Given the description of an element on the screen output the (x, y) to click on. 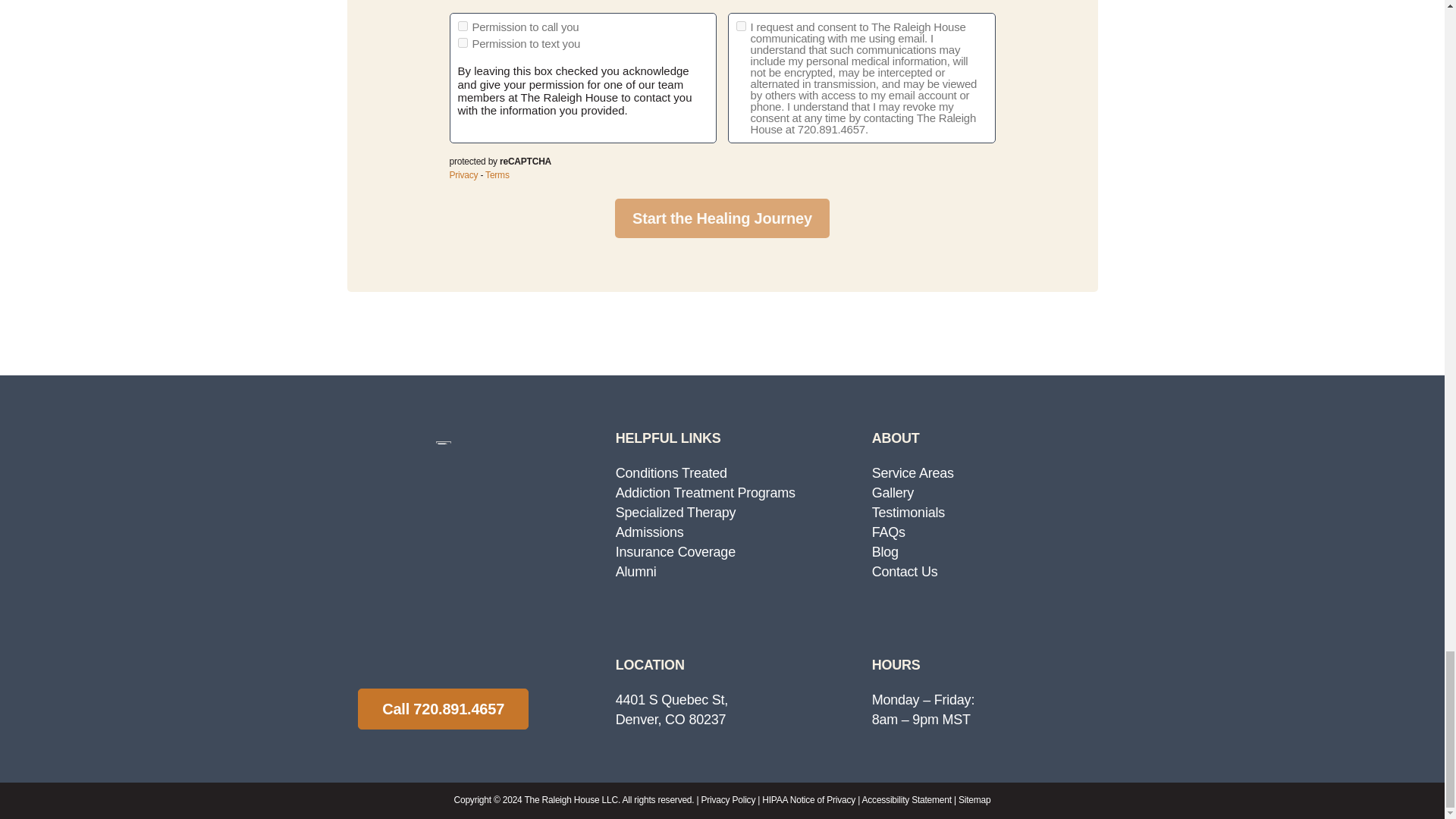
Start the Healing Journey (721, 218)
Permission to text you (462, 42)
Permission to call you (462, 26)
